Given the description of an element on the screen output the (x, y) to click on. 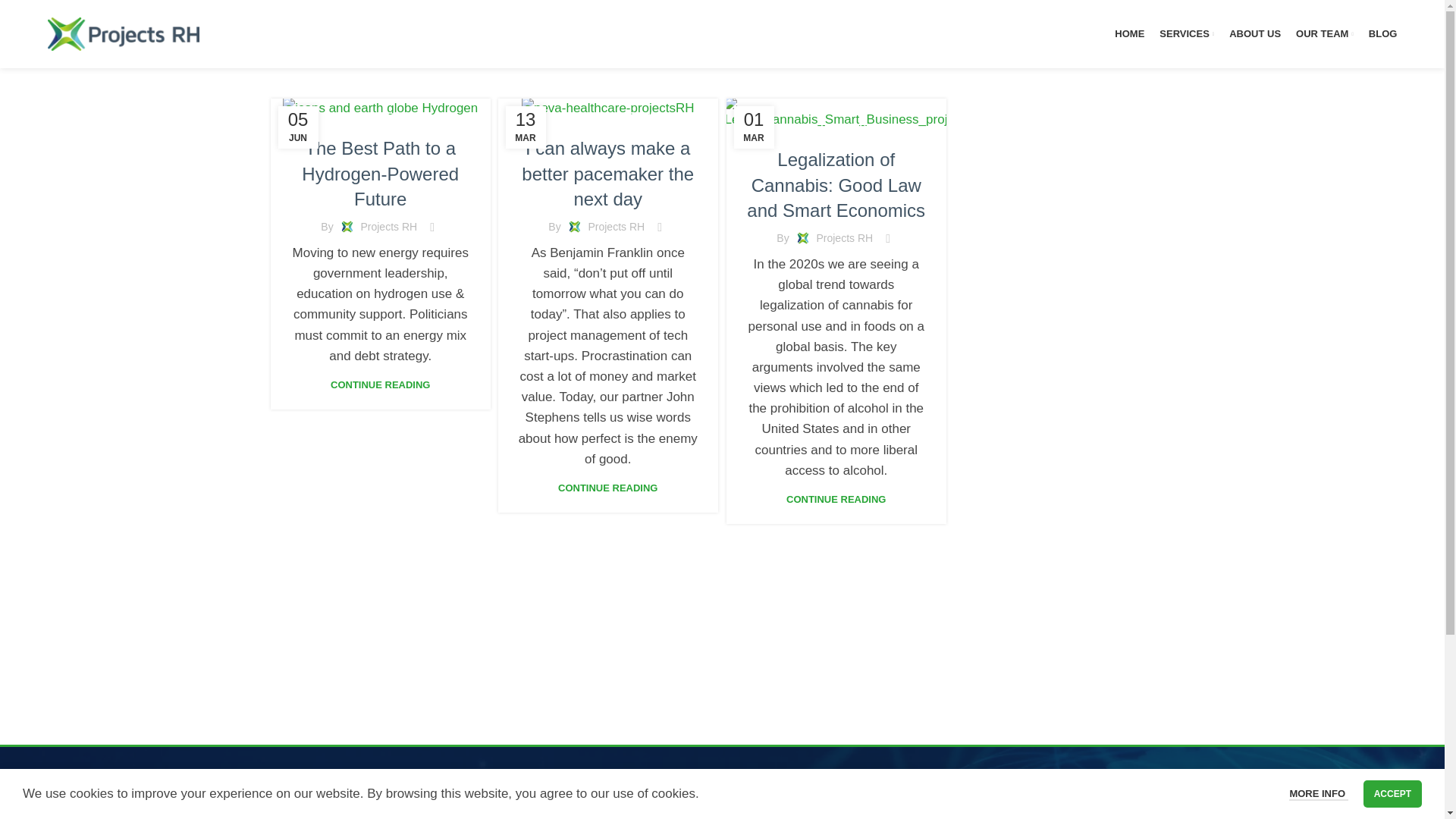
HOME (1129, 33)
The Best Path to a Hydrogen-Powered Future (379, 173)
BLOG (1382, 33)
I can always make a better pacemaker the next day (607, 173)
PROJECTS RH (624, 116)
Projects RH (616, 226)
Projects RH (387, 226)
CONTINUE READING (379, 384)
OUR TEAM (1324, 33)
BLOG (572, 116)
BLOG (379, 116)
ABOUT US (1254, 33)
SERVICES (1186, 33)
